Given the description of an element on the screen output the (x, y) to click on. 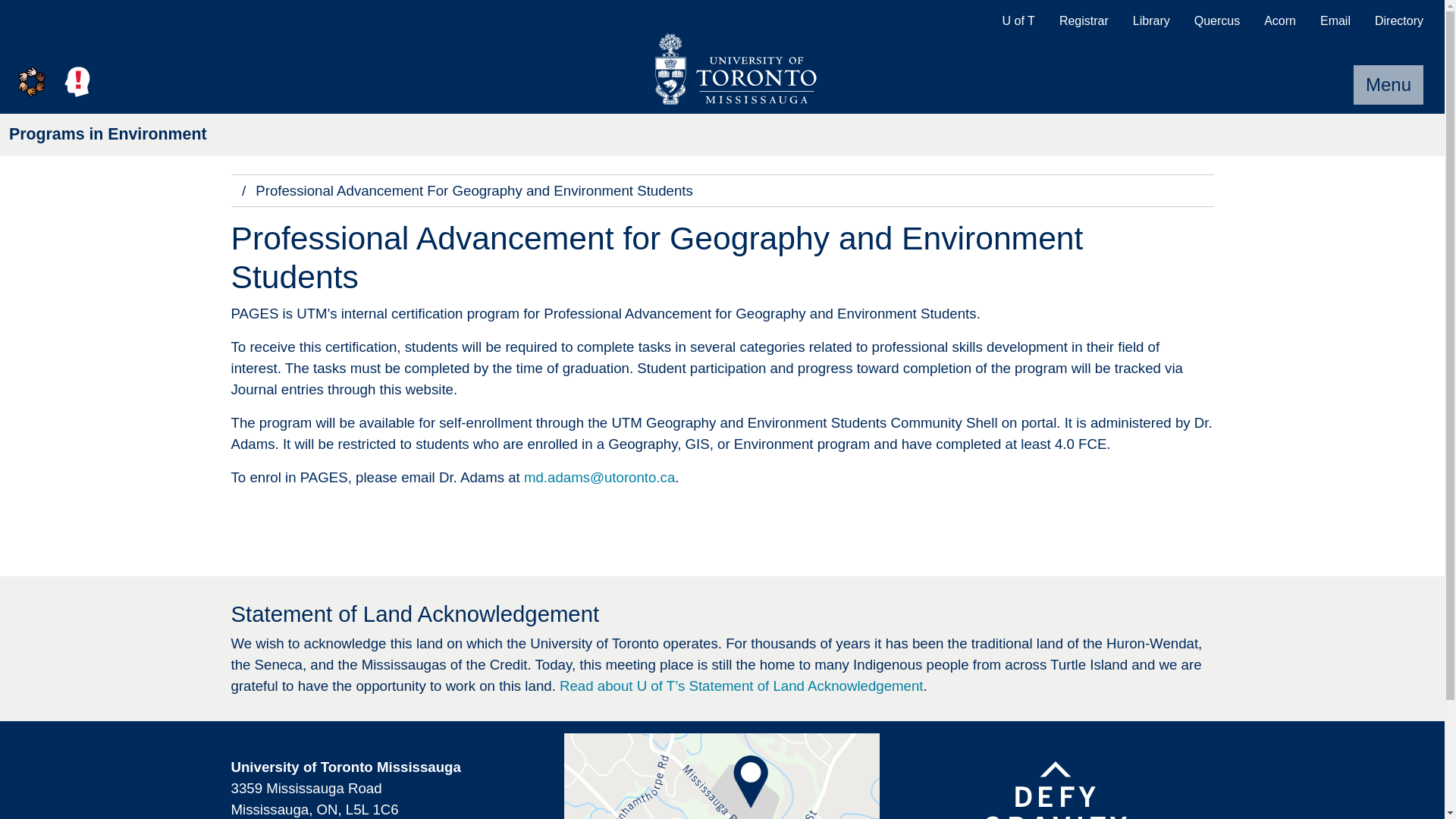
Search (122, 81)
Menu (1388, 84)
Directory (1398, 21)
Search (122, 81)
Menu (1388, 84)
Registrar (1083, 21)
U of T (1018, 21)
Library (1151, 21)
Email (1334, 21)
Quercus (1217, 21)
Mental Health Supports (77, 81)
Programs in Environment (107, 134)
Acorn (1279, 21)
